Given the description of an element on the screen output the (x, y) to click on. 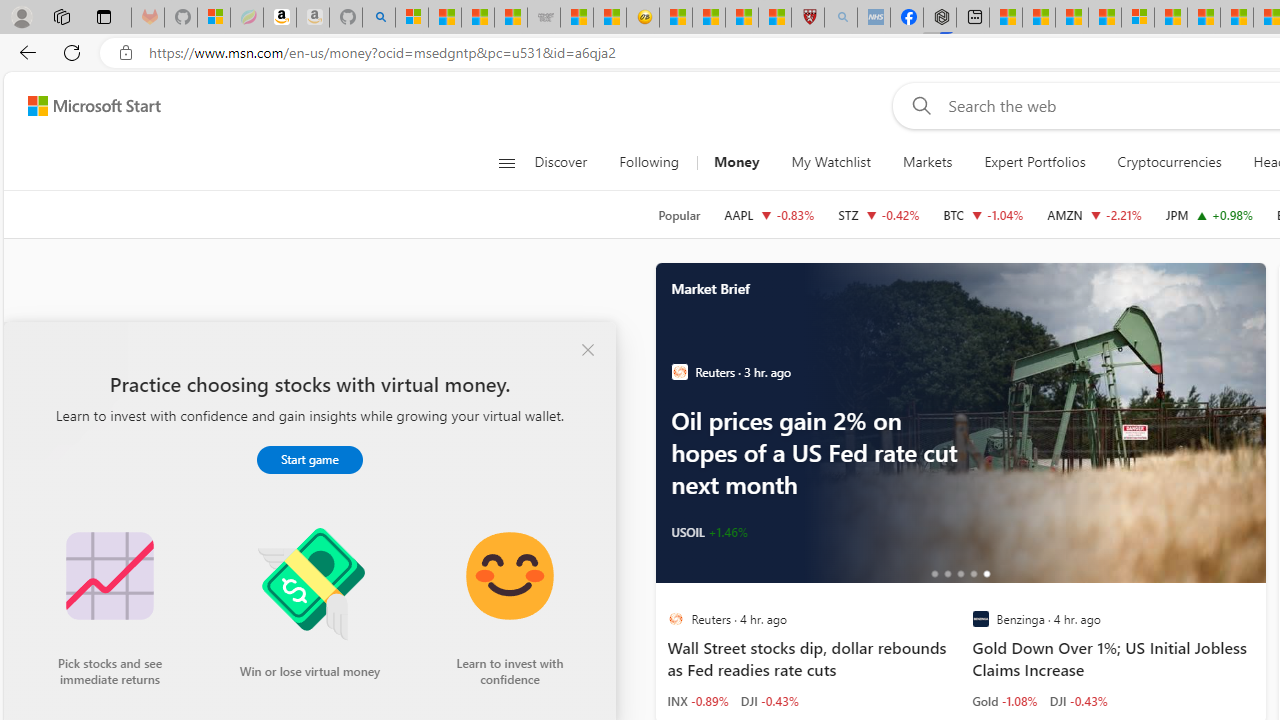
Expert Portfolios (1034, 162)
Recipes - MSN (676, 17)
My Watchlist (830, 162)
Markets (926, 162)
MarketWatch (679, 372)
Cryptocurrencies (1168, 162)
Open navigation menu (506, 162)
Skip to footer (82, 105)
INX -0.89% (697, 700)
Microsoft Start (94, 105)
